Given the description of an element on the screen output the (x, y) to click on. 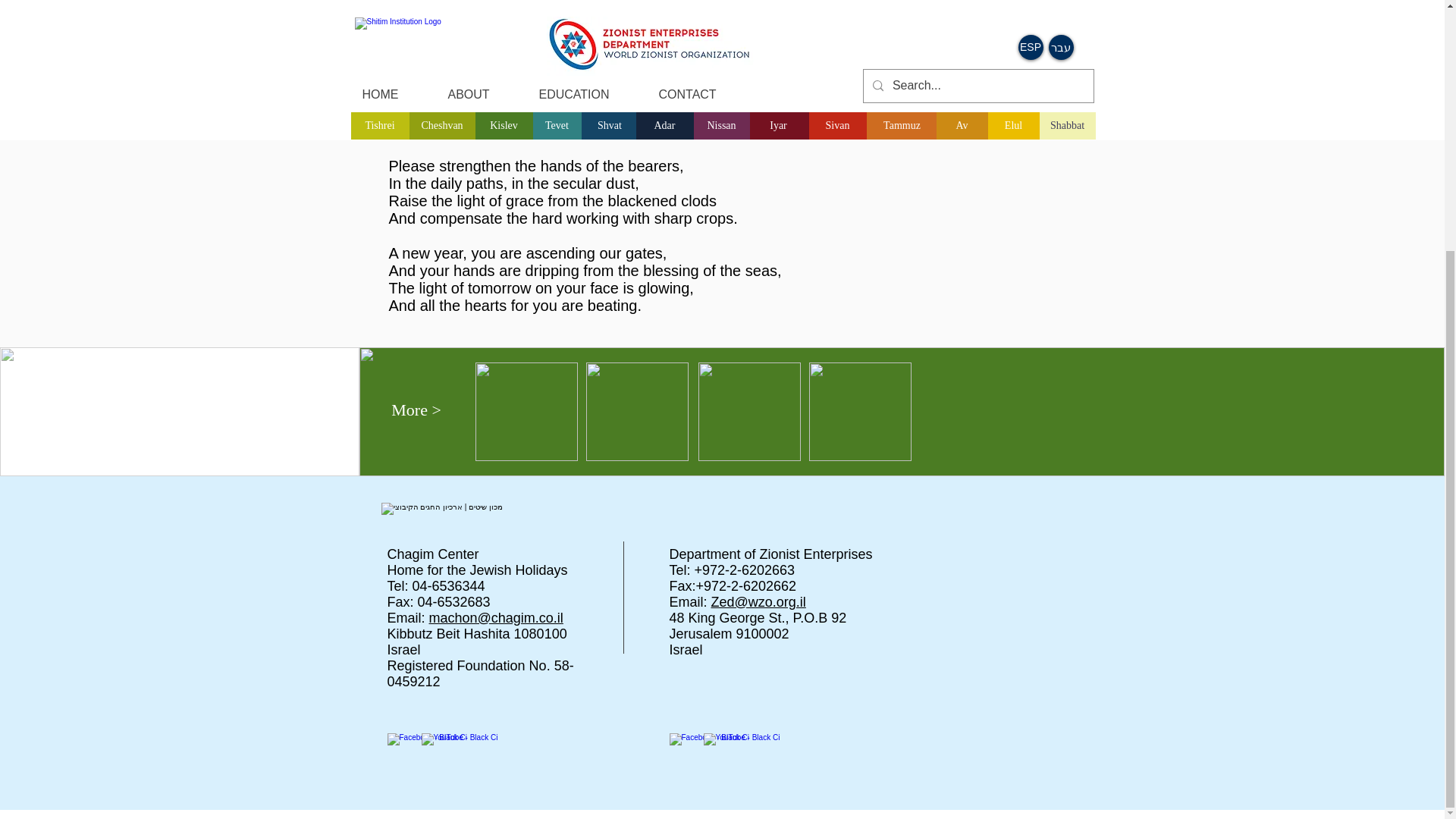
Email:  (689, 601)
